Given the description of an element on the screen output the (x, y) to click on. 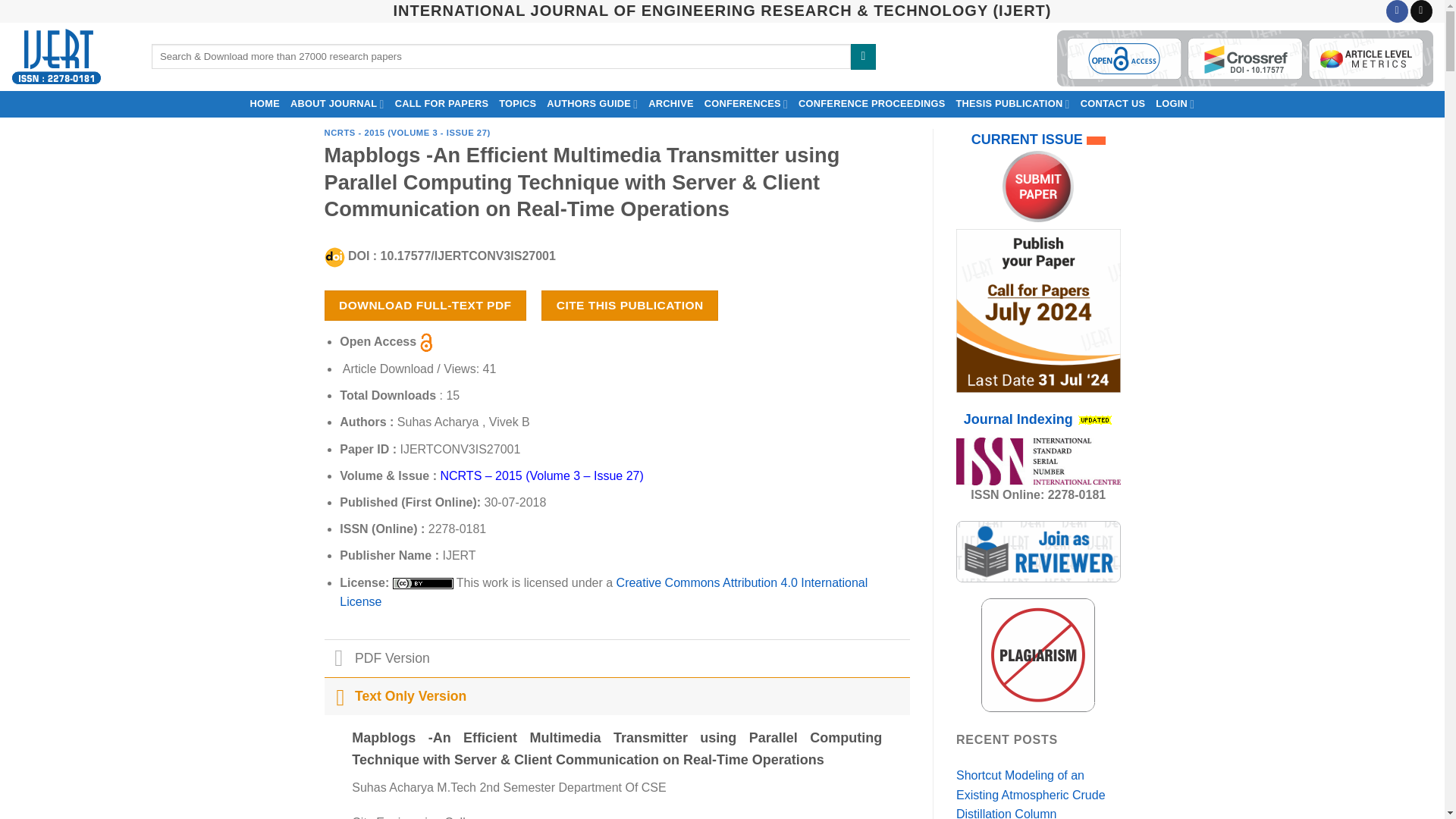
THESIS PUBLICATION (1012, 103)
Follow on Facebook (1396, 11)
TOPICS (517, 103)
ARCHIVE (670, 103)
ABOUT JOURNAL (337, 103)
Send us an email (1421, 11)
CONFERENCES (745, 103)
CONTACT US (1113, 103)
CALL FOR PAPERS (442, 103)
AUTHORS GUIDE (592, 103)
CONFERENCE PROCEEDINGS (871, 103)
LOGIN (1174, 103)
HOME (264, 103)
